Given the description of an element on the screen output the (x, y) to click on. 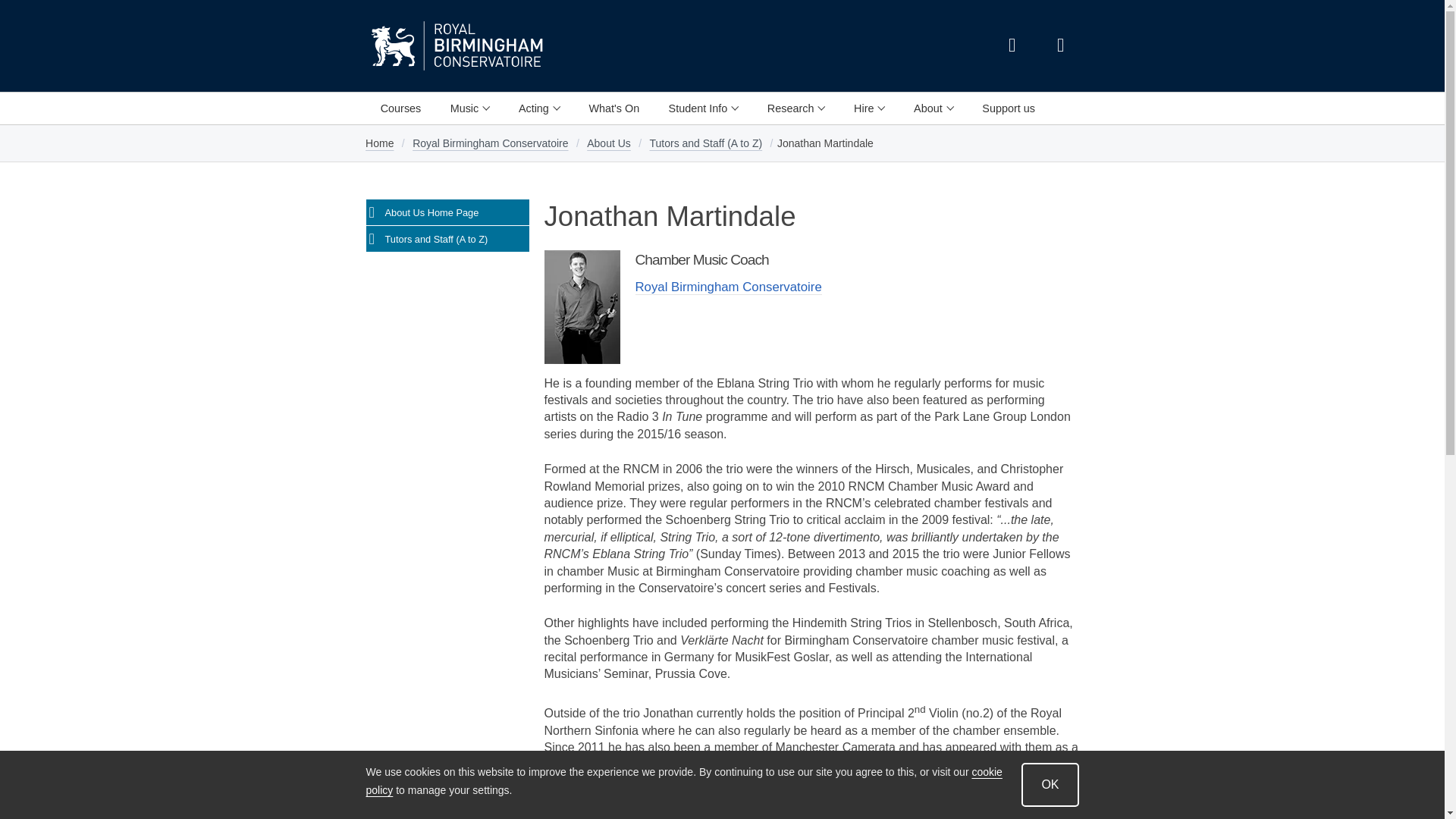
View saved courses (1060, 45)
OK (1050, 784)
cookie policy (683, 780)
Courses (400, 108)
Birmingham City University (395, 45)
Search the BCU website (1010, 45)
Royal Birmingham Conservatoire (545, 45)
Music (469, 108)
